Given the description of an element on the screen output the (x, y) to click on. 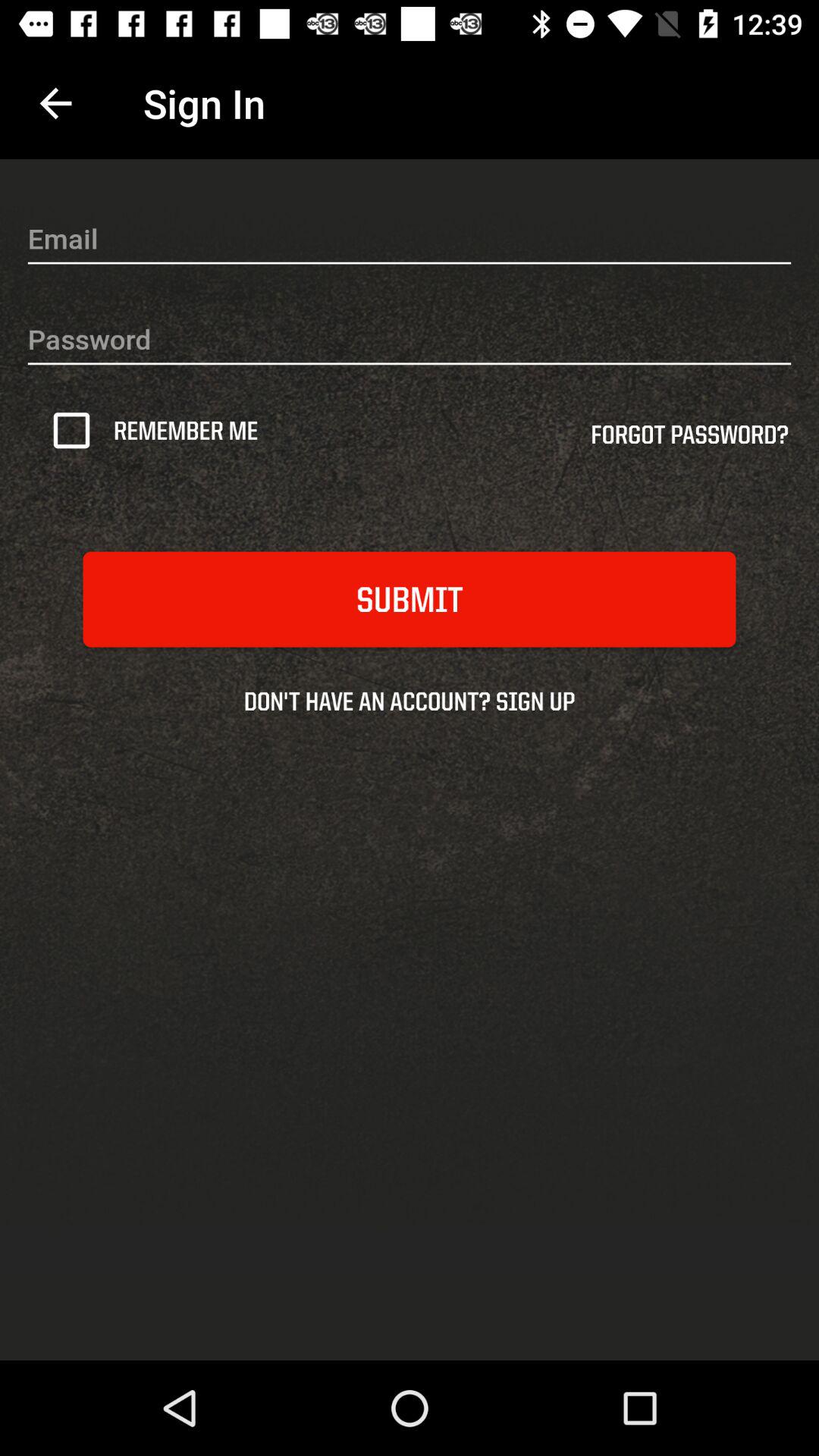
turn on the icon next to the sign in item (55, 103)
